Given the description of an element on the screen output the (x, y) to click on. 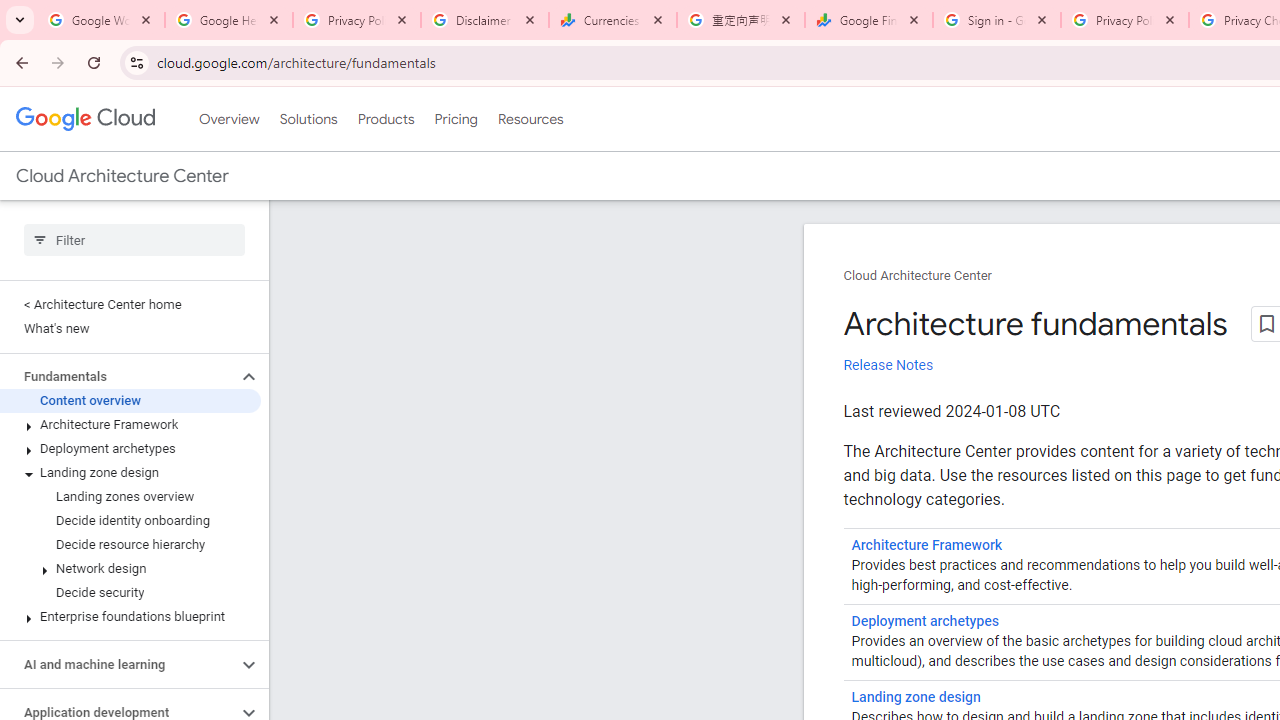
Currencies - Google Finance (613, 20)
Google Workspace Admin Community (101, 20)
Architecture Framework (927, 545)
Fundamentals (118, 376)
Sign in - Google Accounts (997, 20)
Deployment archetypes (924, 621)
Decide identity onboarding (130, 520)
Network design (130, 569)
Decide resource hierarchy (130, 544)
